Given the description of an element on the screen output the (x, y) to click on. 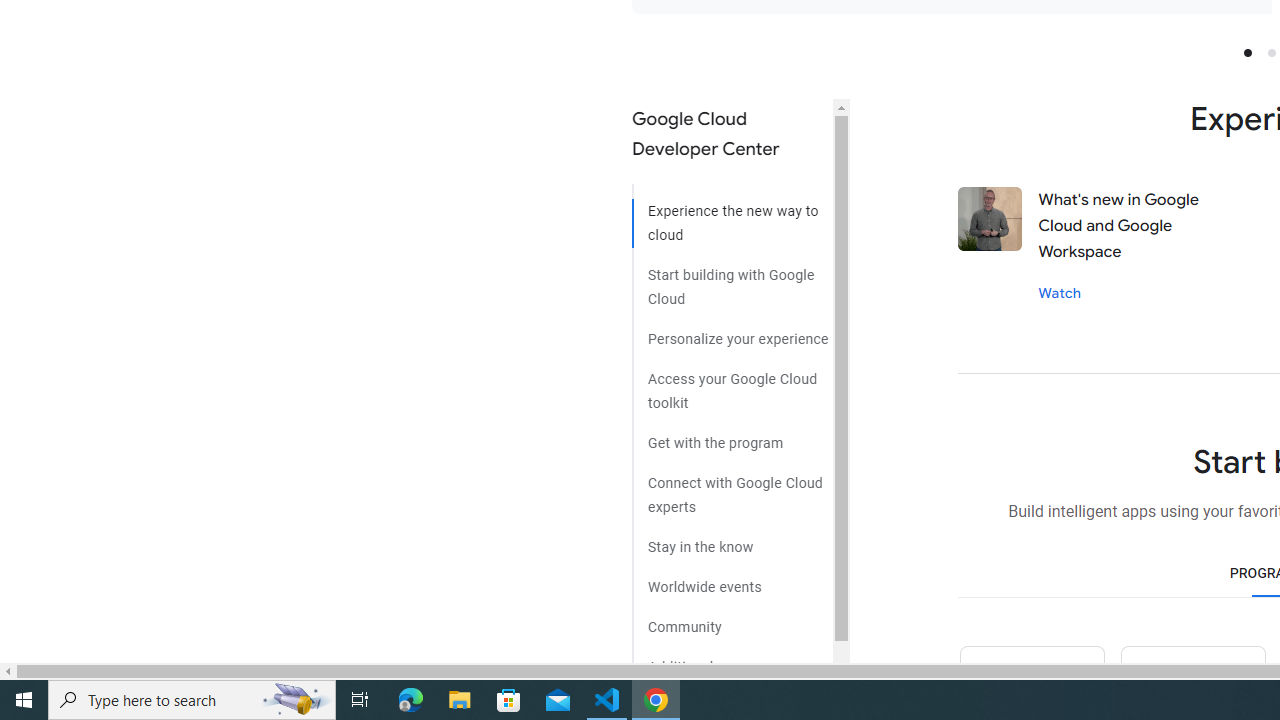
Slide 1 (1247, 52)
